Given the description of an element on the screen output the (x, y) to click on. 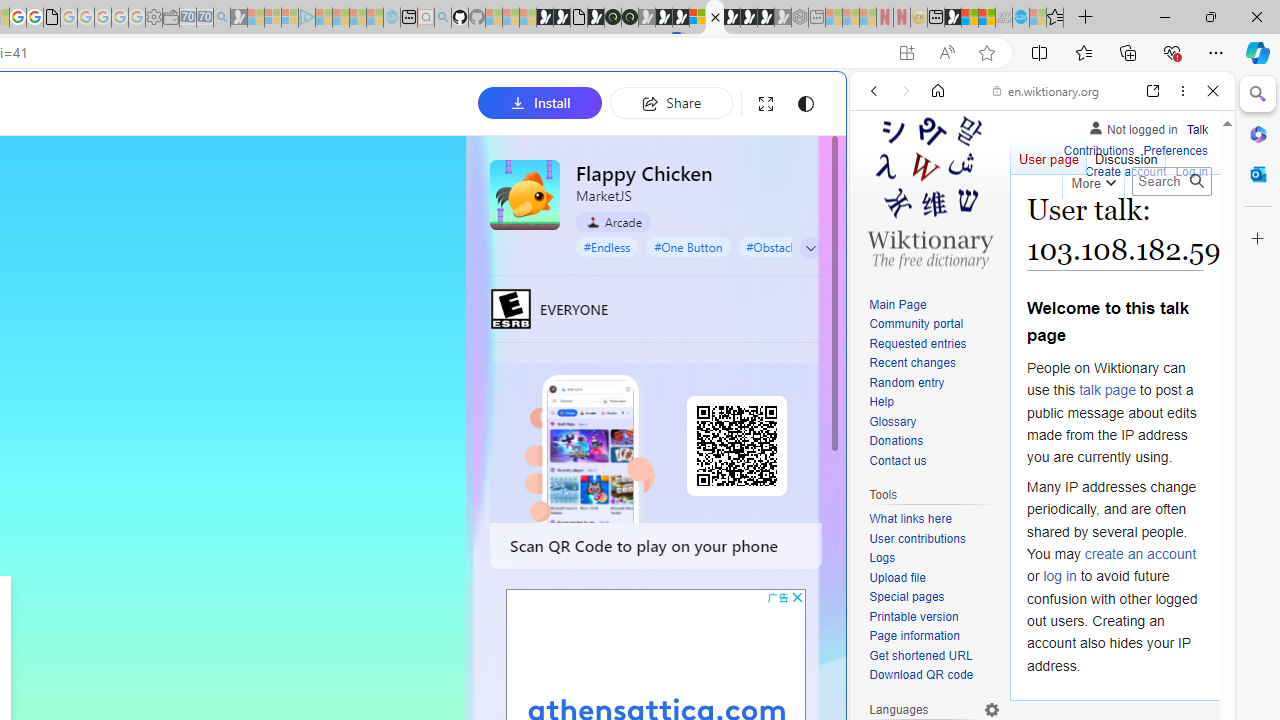
Open link in new tab (1153, 91)
Donations (934, 442)
talk page (1107, 390)
Download QR code (934, 676)
google_privacy_policy_zh-CN.pdf (51, 17)
Contributions (1098, 151)
Global web icon (888, 669)
WEB   (882, 228)
Home | Sky Blue Bikes - Sky Blue Bikes - Sleeping (392, 17)
Log in (1191, 172)
